Given the description of an element on the screen output the (x, y) to click on. 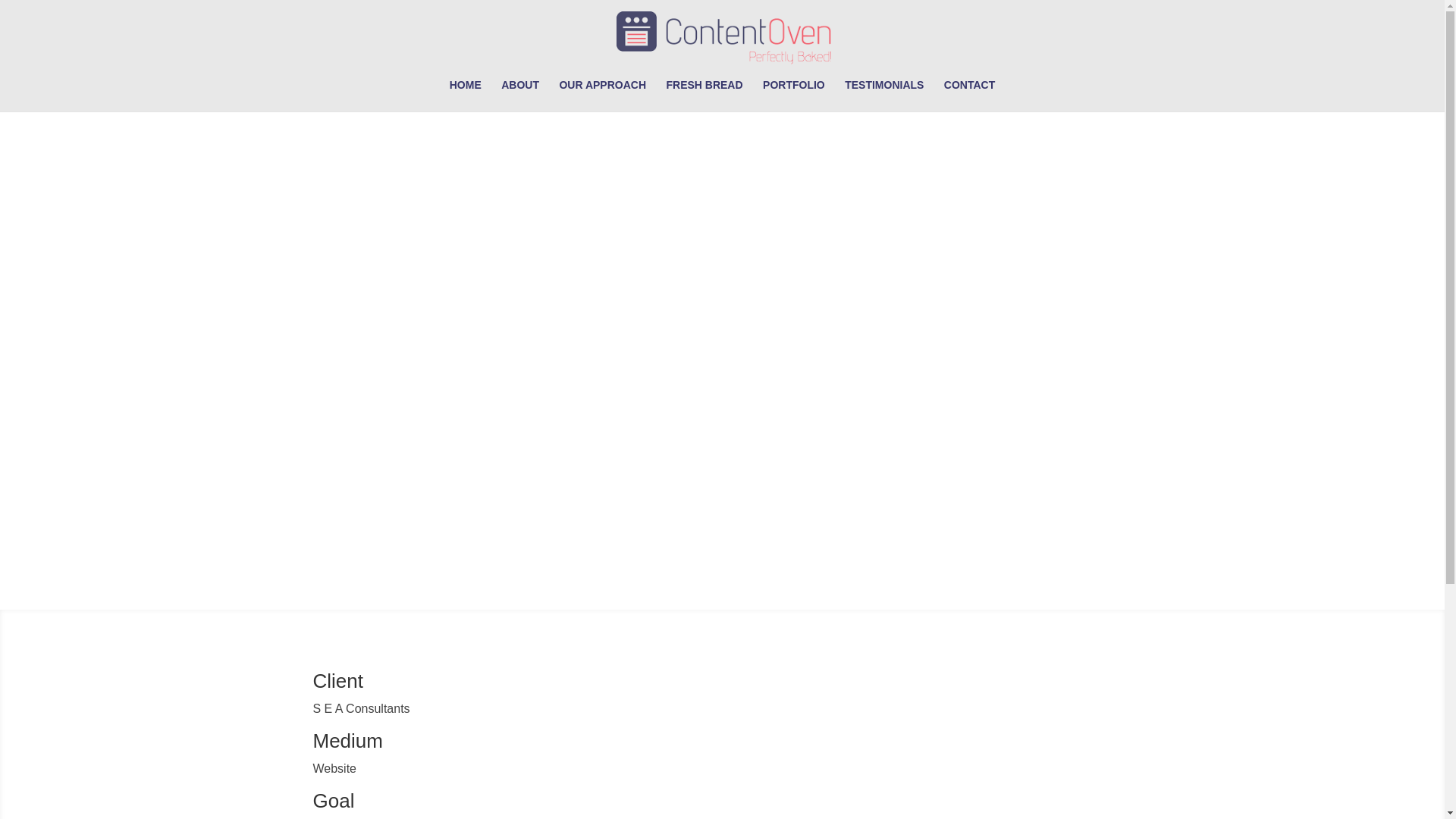
HOME (465, 95)
PORTFOLIO (793, 95)
FRESH BREAD (703, 95)
CONTACT (968, 95)
ABOUT (519, 95)
TESTIMONIALS (883, 95)
OUR APPROACH (602, 95)
